Given the description of an element on the screen output the (x, y) to click on. 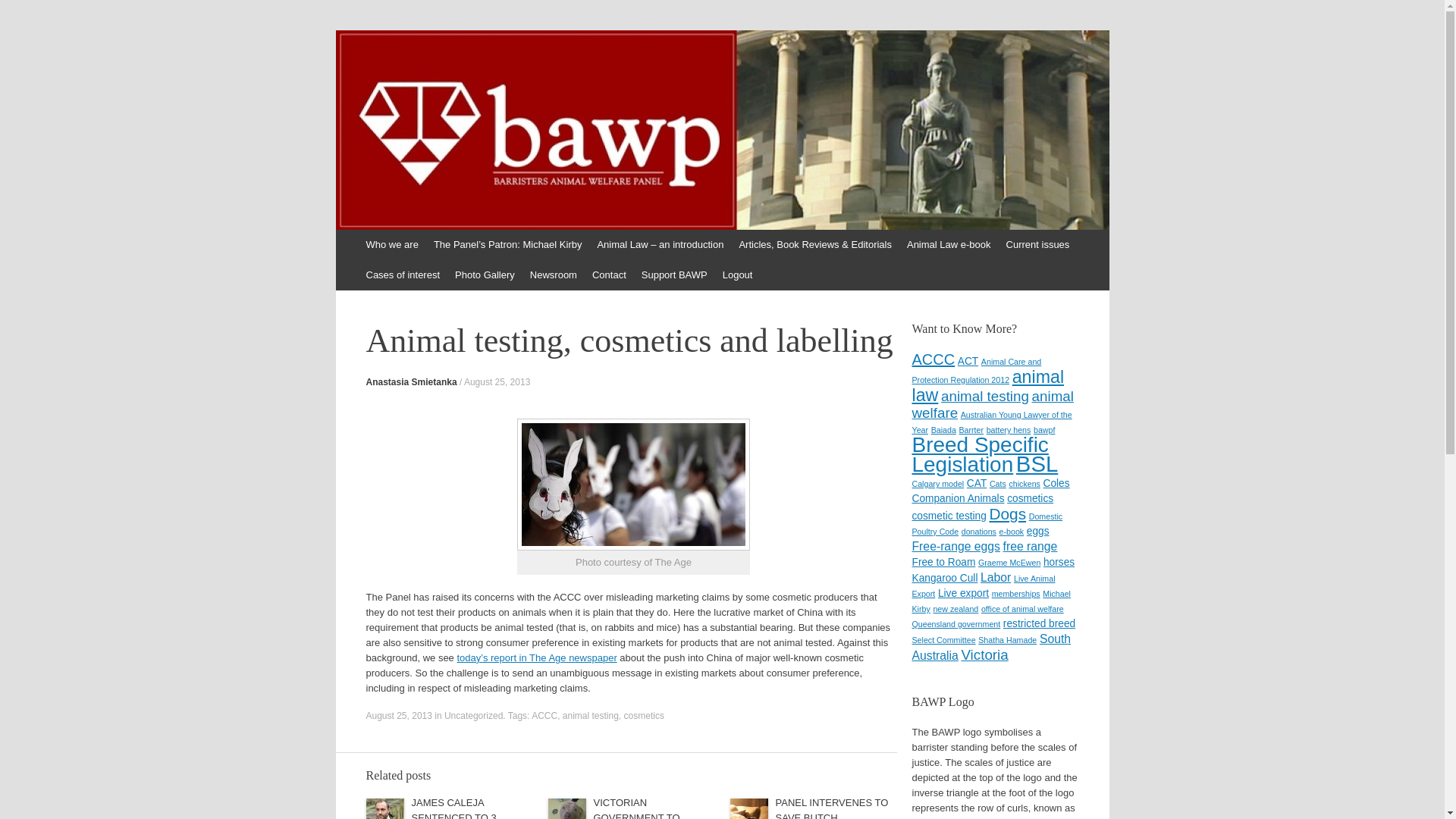
Domestic Poultry Code Element type: text (986, 523)
memberships Element type: text (1015, 593)
Dogs Element type: text (1007, 513)
Barristers Animal Welfare Panel Element type: text (752, 167)
battery hens Element type: text (1008, 429)
cosmetics Element type: text (644, 715)
Shatha Hamade Element type: text (1007, 639)
Michael Kirby Element type: text (990, 601)
ACCC Element type: text (932, 359)
office of animal welfare Element type: text (1022, 608)
Anastasia Smietanka Element type: text (410, 381)
Animal Care and Protection Regulation 2012 Element type: text (976, 370)
Baiada Element type: text (943, 429)
Search Element type: text (23, 15)
Australian Young Lawyer of the Year Element type: text (991, 422)
CAT Element type: text (976, 483)
Cases of interest Element type: text (402, 275)
Queensland government Element type: text (955, 623)
August 25, 2013 Element type: text (497, 381)
Kangaroo Cull Element type: text (944, 577)
Animal Law e-book Element type: text (948, 244)
eggs Element type: text (1037, 530)
free range Element type: text (1030, 545)
August 25, 2013 Element type: text (398, 715)
Breed Specific Legislation Element type: text (979, 454)
cosmetic testing Element type: text (948, 515)
Graeme McEwen Element type: text (1009, 562)
cosmetics Element type: text (1030, 498)
South Australia Element type: text (990, 647)
Select Committee Element type: text (943, 639)
Articles, Book Reviews & Editorials Element type: text (815, 244)
Victoria Element type: text (983, 654)
Coles Element type: text (1056, 483)
animal testing Element type: text (985, 396)
Contact Element type: text (608, 275)
donations Element type: text (978, 531)
BSL Element type: text (1036, 463)
Support BAWP Element type: text (674, 275)
Photo Gallery Element type: text (484, 275)
Companion Animals Element type: text (957, 498)
Free to Roam Element type: text (943, 561)
animal welfare Element type: text (992, 404)
bawpf Element type: text (1043, 429)
ACCC Element type: text (544, 715)
e-book Element type: text (1011, 531)
Calgary model Element type: text (937, 483)
Current issues Element type: text (1037, 244)
Skip to content Element type: text (375, 244)
Uncategorized Element type: text (473, 715)
restricted breed Element type: text (1039, 623)
ACT Element type: text (967, 361)
Live Animal Export Element type: text (982, 586)
Cats Element type: text (997, 483)
chickens Element type: text (1023, 483)
horses Element type: text (1058, 561)
Labor Element type: text (995, 577)
new zealand Element type: text (955, 608)
Live export Element type: text (963, 593)
Newsroom Element type: text (553, 275)
Barrter Element type: text (970, 429)
Who we are Element type: text (391, 244)
Free-range eggs Element type: text (955, 545)
animal law Element type: text (987, 385)
Logout Element type: text (737, 275)
animal testing Element type: text (590, 715)
